Given the description of an element on the screen output the (x, y) to click on. 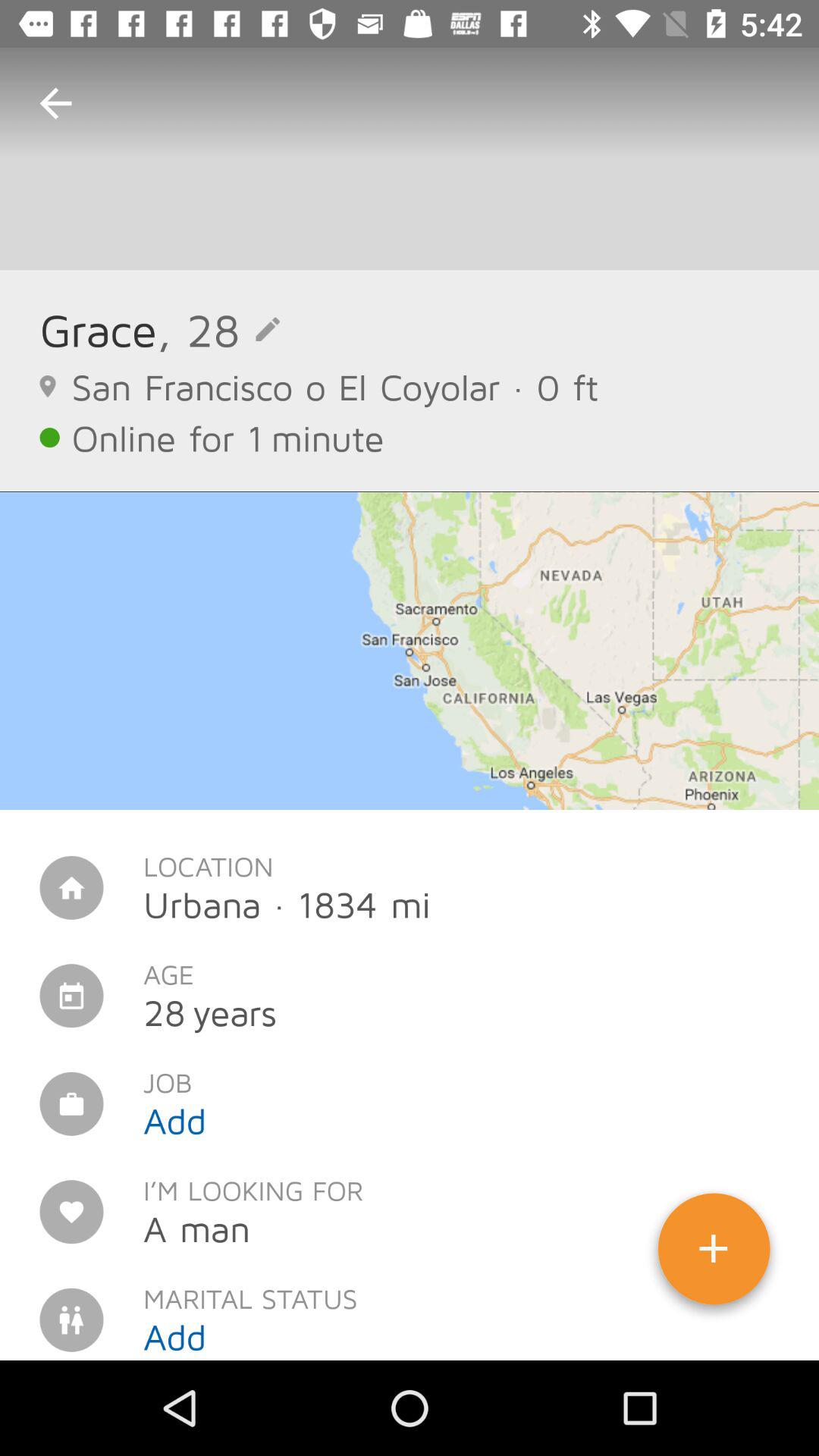
open icon next to i m looking icon (713, 1254)
